Given the description of an element on the screen output the (x, y) to click on. 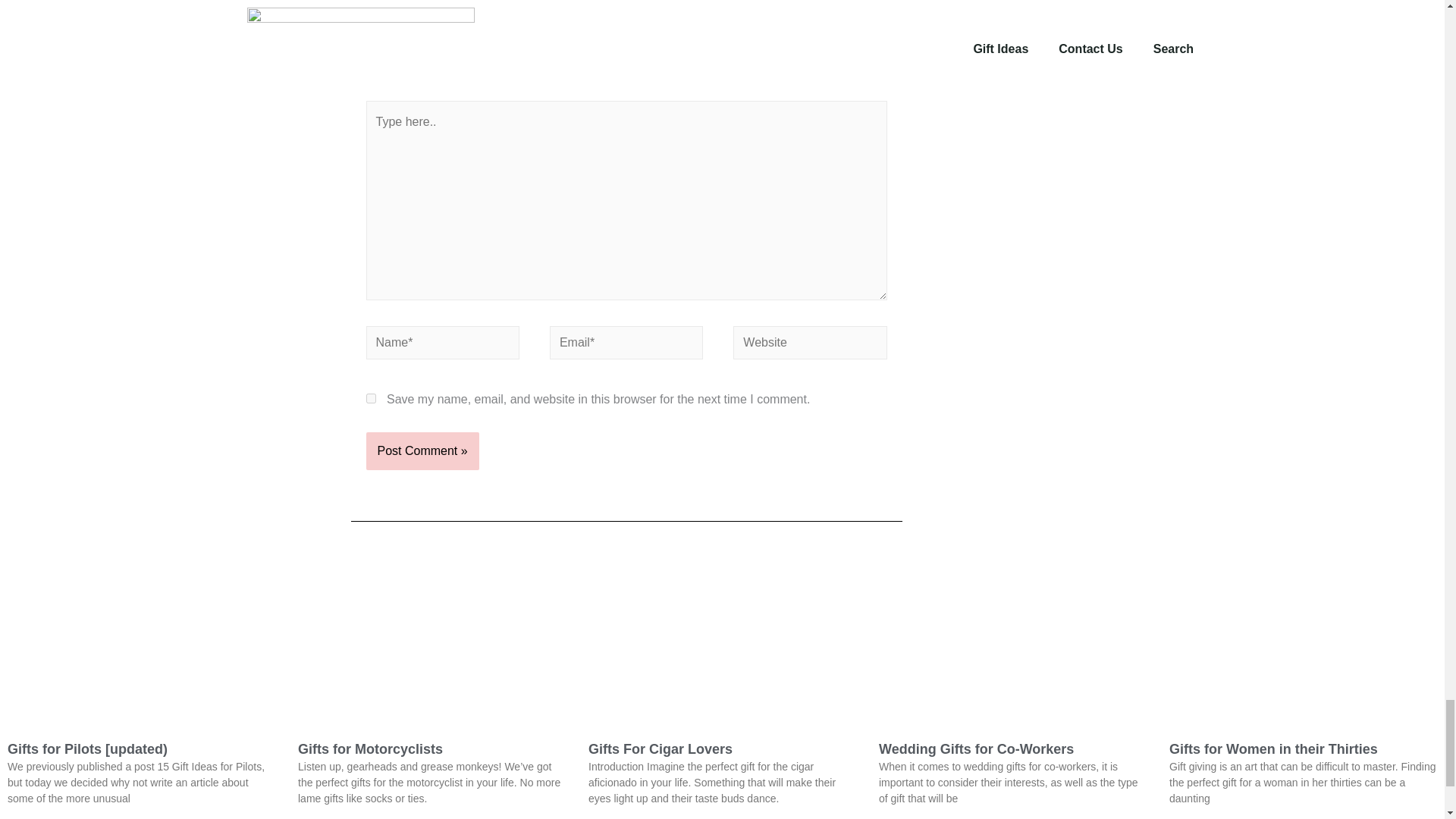
yes (370, 398)
